Given the description of an element on the screen output the (x, y) to click on. 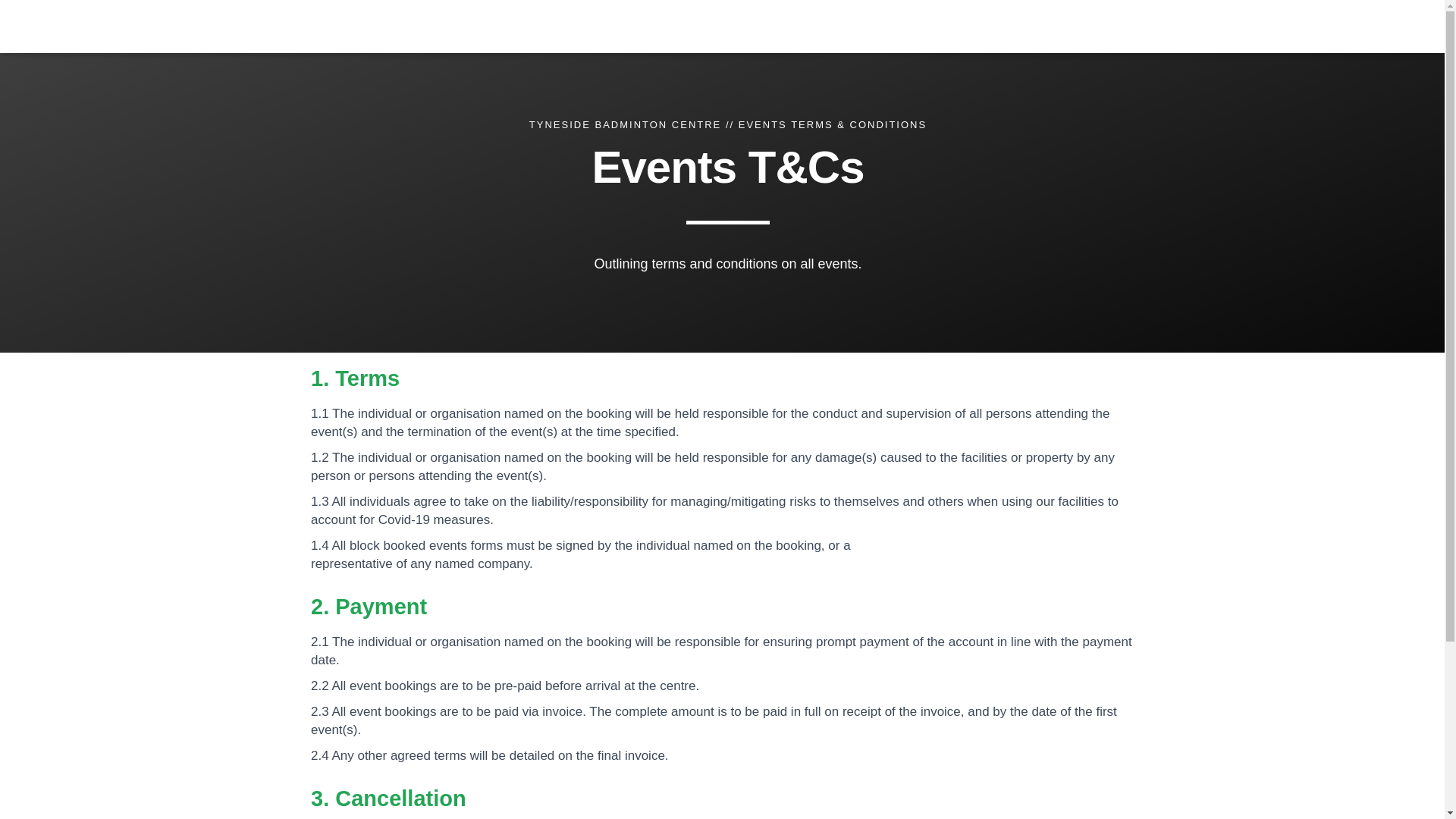
Activities (782, 26)
BUSINESS CLUB (946, 26)
Business Club (946, 26)
NEW: MEMBERSHIP (606, 26)
NEW: Membership (606, 26)
Restringing (1037, 26)
Tyneside Badminton Centre (379, 26)
TYNESIDE BADMINTON CENTRE (624, 124)
RESTRINGING (1037, 26)
Room Hire (861, 26)
